Given the description of an element on the screen output the (x, y) to click on. 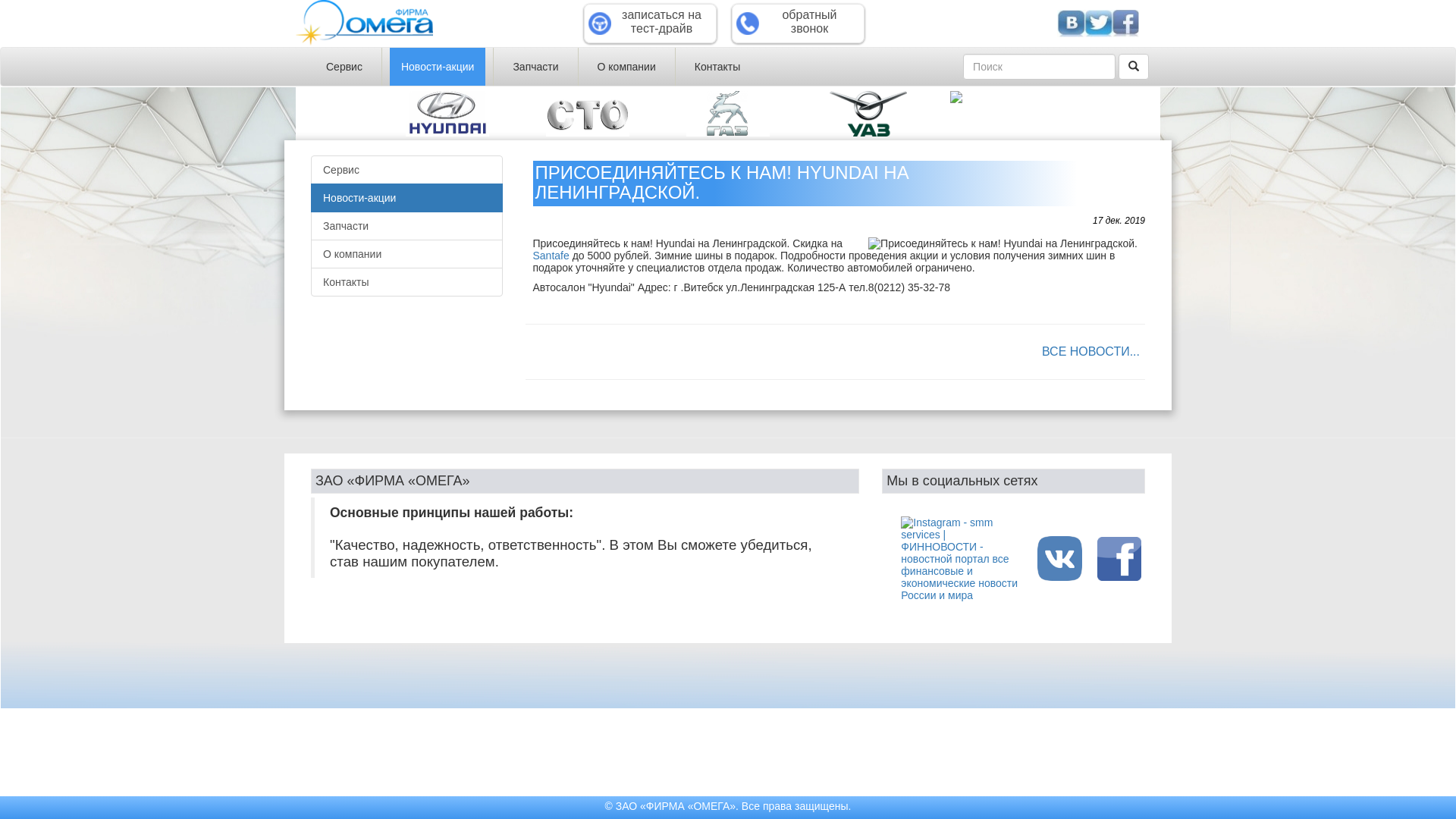
Santafe Element type: text (550, 255)
Twitter Element type: hover (1097, 23)
Facebook Element type: hover (1125, 23)
